Given the description of an element on the screen output the (x, y) to click on. 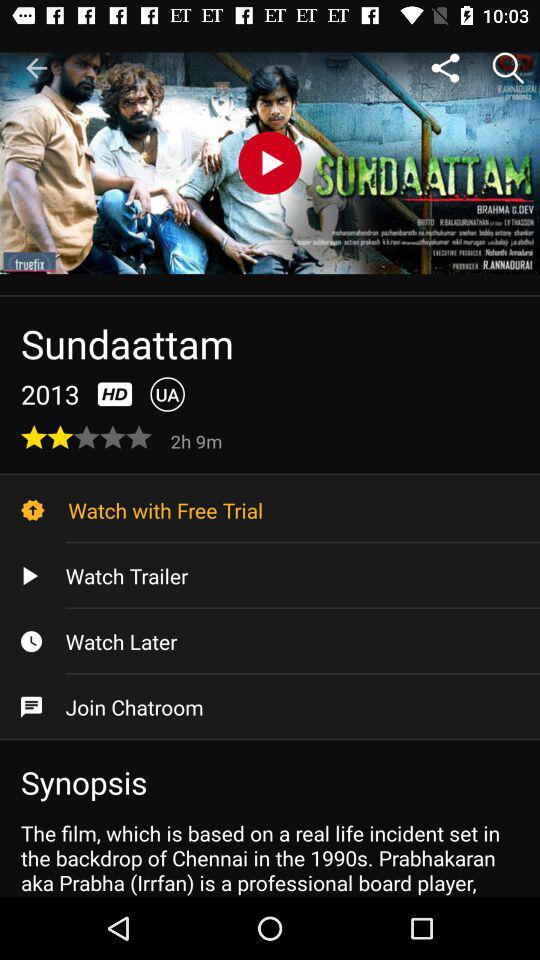
tap watch later (270, 641)
